Given the description of an element on the screen output the (x, y) to click on. 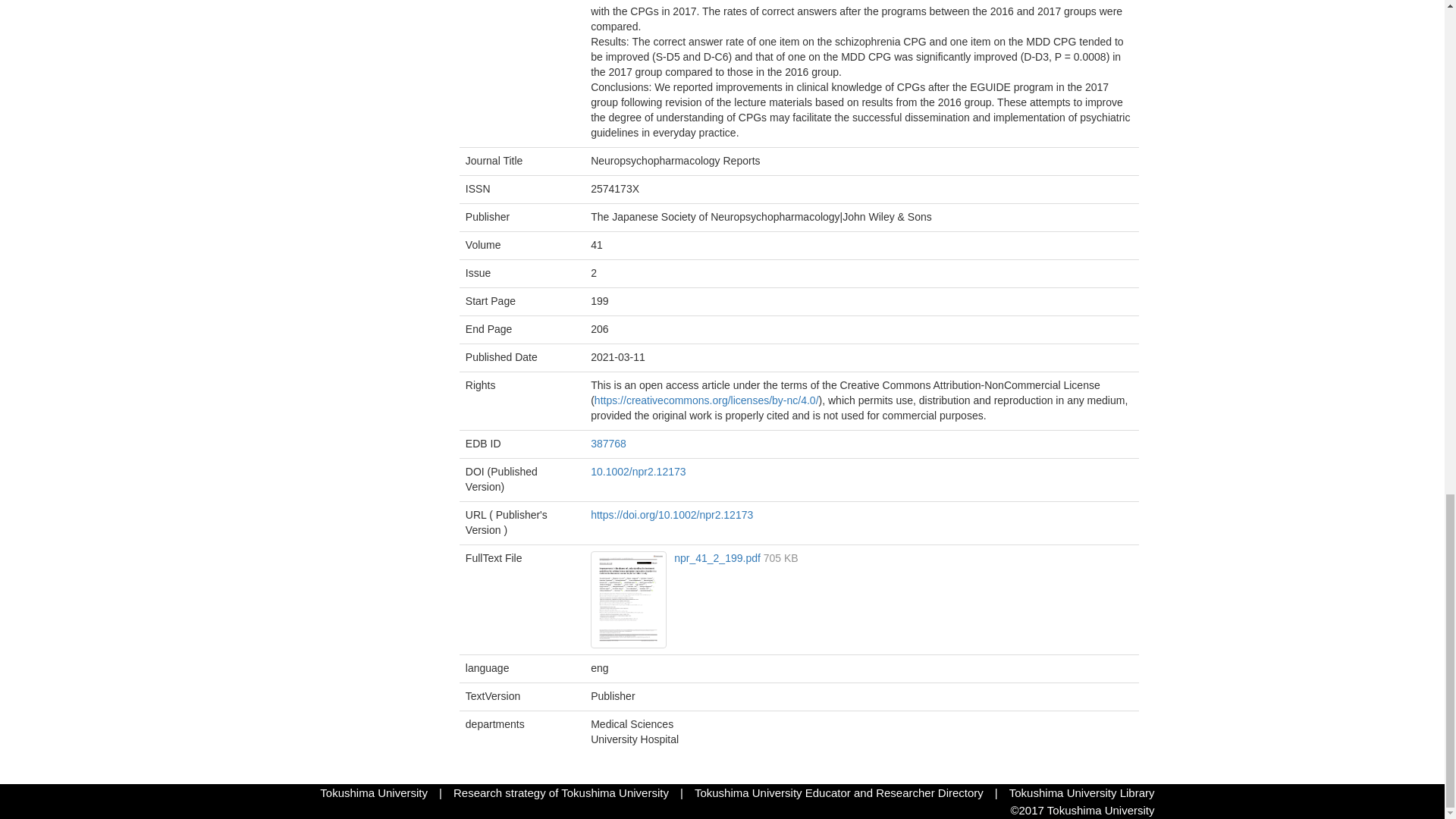
387768 (608, 443)
